Given the description of an element on the screen output the (x, y) to click on. 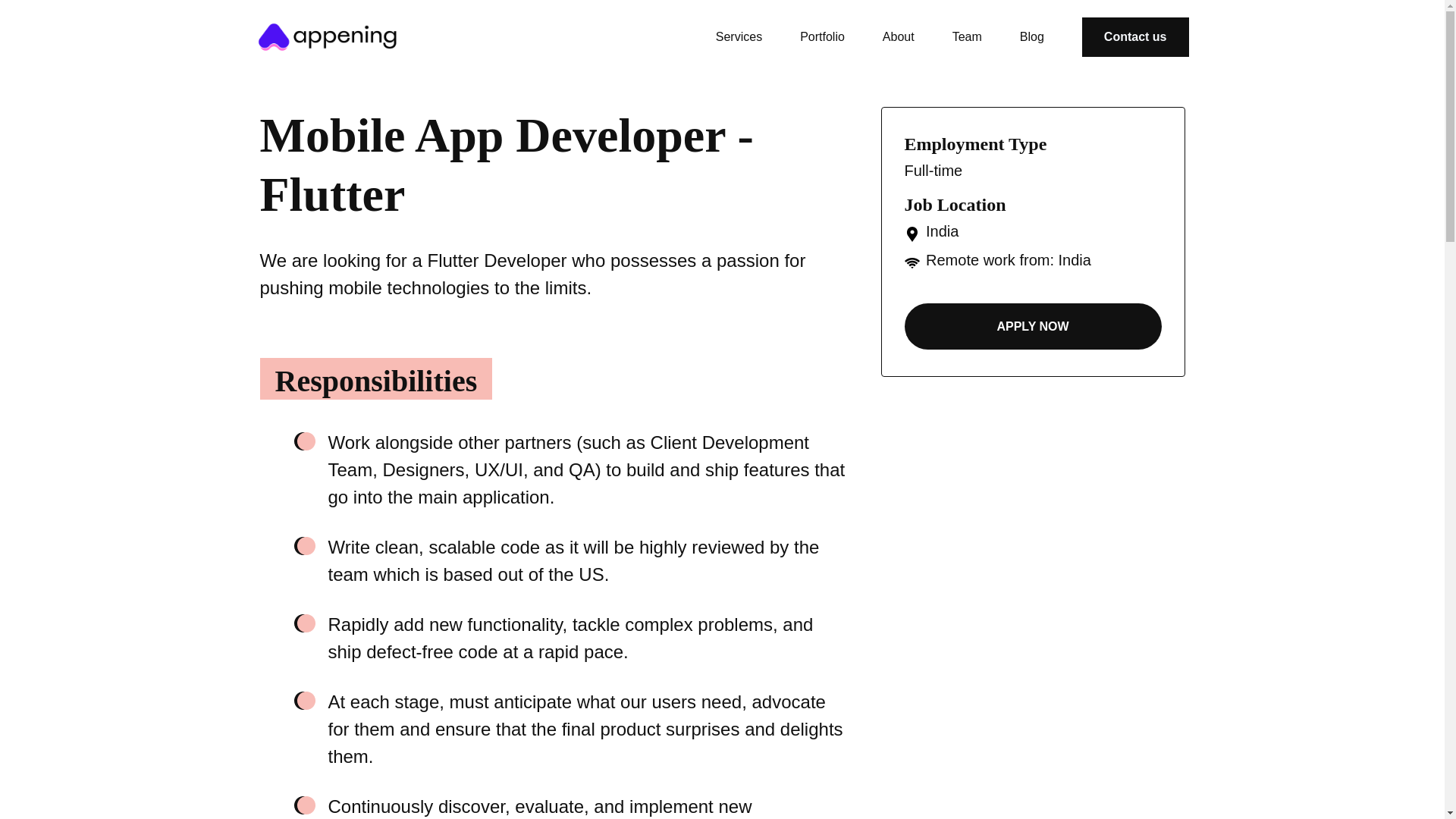
Services (738, 36)
APPLY NOW (1032, 326)
Blog (1031, 36)
About (898, 36)
Portfolio (821, 36)
Contact us (1135, 36)
Contact us (1135, 37)
Team (967, 36)
